Given the description of an element on the screen output the (x, y) to click on. 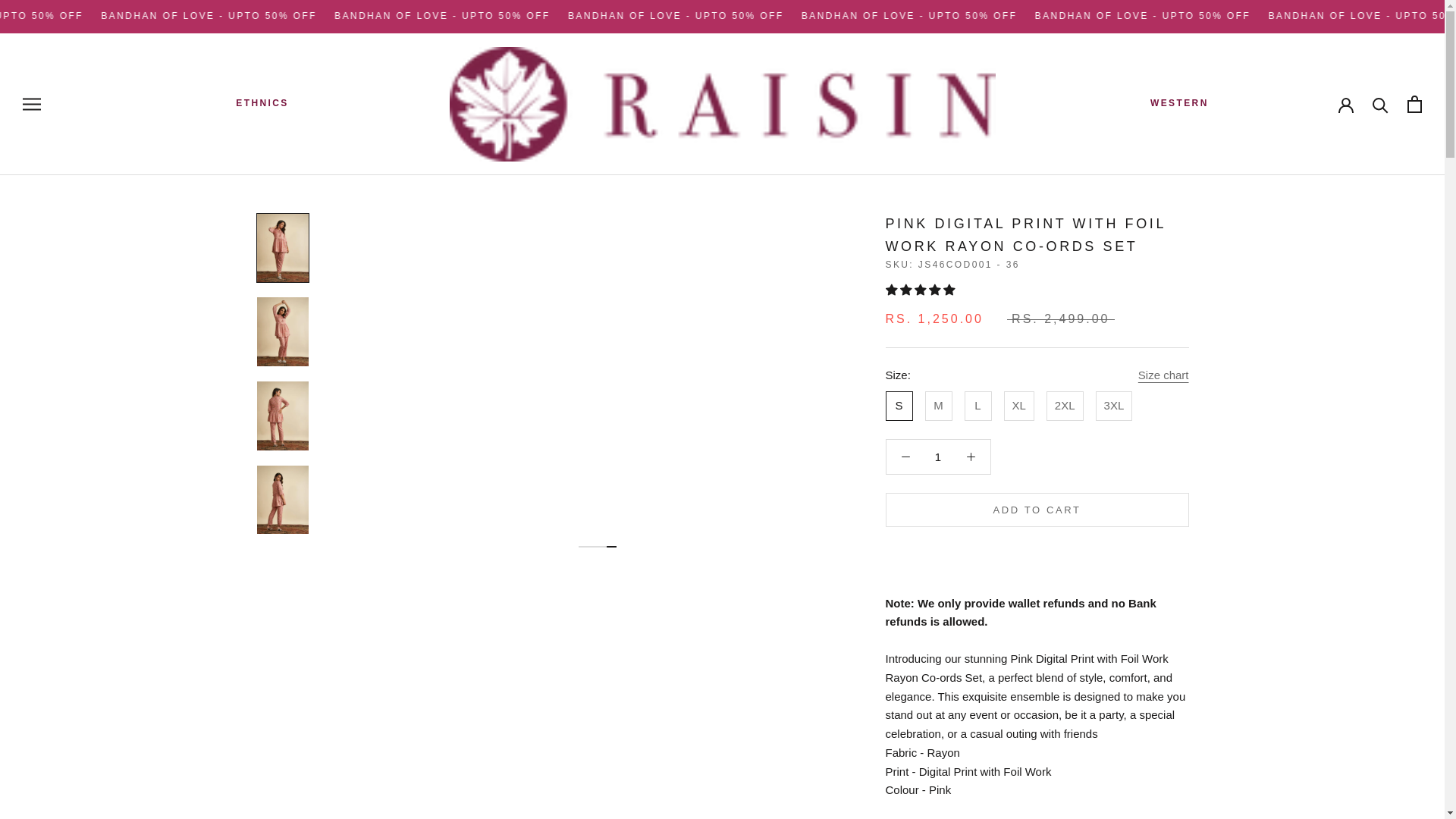
1 (938, 456)
